Given the description of an element on the screen output the (x, y) to click on. 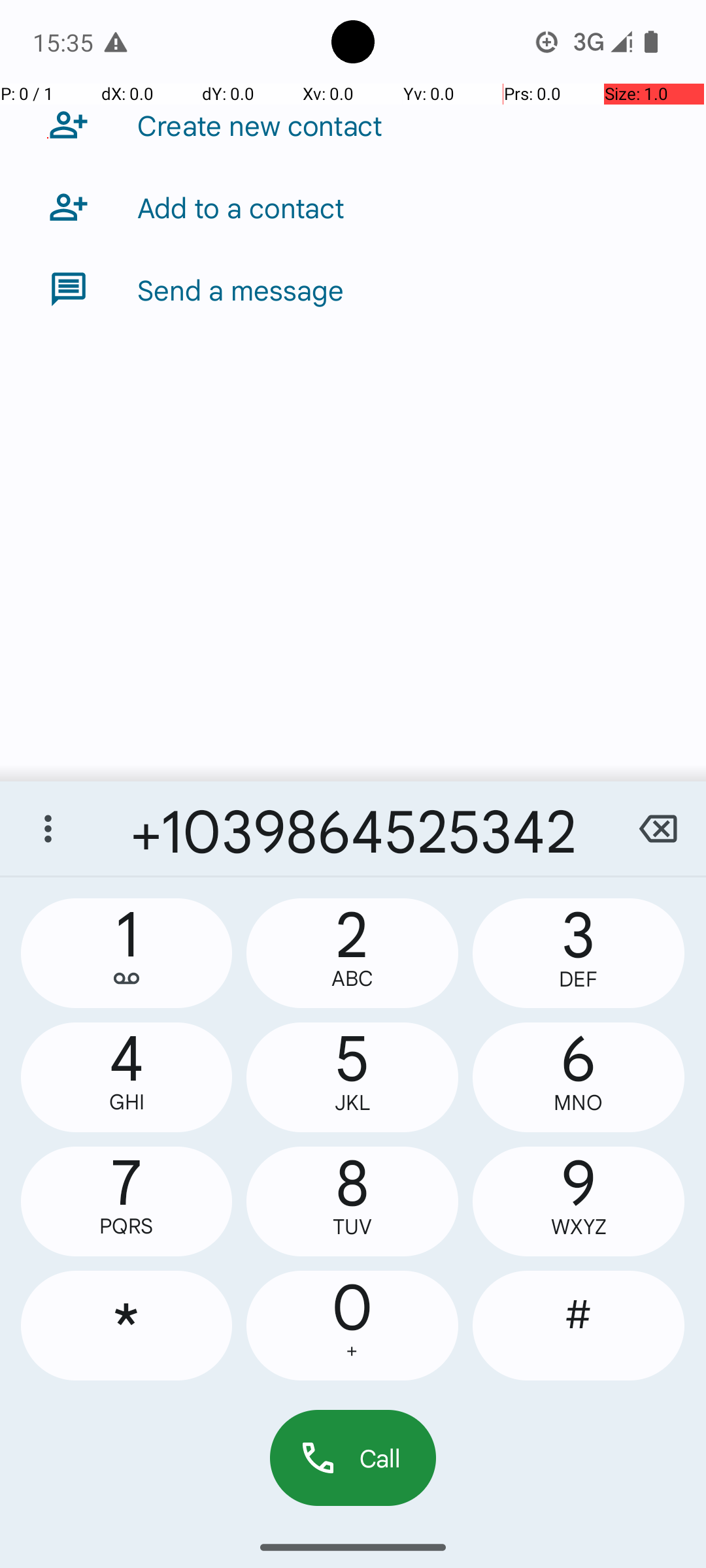
Call Element type: android.widget.Button (352, 1457)
+1039864525342 Element type: android.widget.EditText (352, 828)
backspace Element type: android.widget.ImageButton (657, 828)
1, Element type: android.widget.FrameLayout (126, 953)
2,ABC Element type: android.widget.FrameLayout (352, 953)
3,DEF Element type: android.widget.FrameLayout (578, 953)
4,GHI Element type: android.widget.FrameLayout (126, 1077)
5,JKL Element type: android.widget.FrameLayout (352, 1077)
6,MNO Element type: android.widget.FrameLayout (578, 1077)
7,PQRS Element type: android.widget.FrameLayout (126, 1201)
8,TUV Element type: android.widget.FrameLayout (352, 1201)
9,WXYZ Element type: android.widget.FrameLayout (578, 1201)
* Element type: android.widget.FrameLayout (126, 1325)
# Element type: android.widget.FrameLayout (578, 1325)
ABC Element type: android.widget.TextView (351, 978)
DEF Element type: android.widget.TextView (578, 978)
GHI Element type: android.widget.TextView (126, 1101)
JKL Element type: android.widget.TextView (351, 1102)
MNO Element type: android.widget.TextView (578, 1102)
PQRS Element type: android.widget.TextView (126, 1225)
TUV Element type: android.widget.TextView (351, 1226)
WXYZ Element type: android.widget.TextView (578, 1226)
+ Element type: android.widget.TextView (351, 1351)
Create new contact Element type: android.widget.TextView (260, 124)
Add to a contact Element type: android.widget.TextView (240, 206)
Send a message Element type: android.widget.TextView (240, 289)
